Given the description of an element on the screen output the (x, y) to click on. 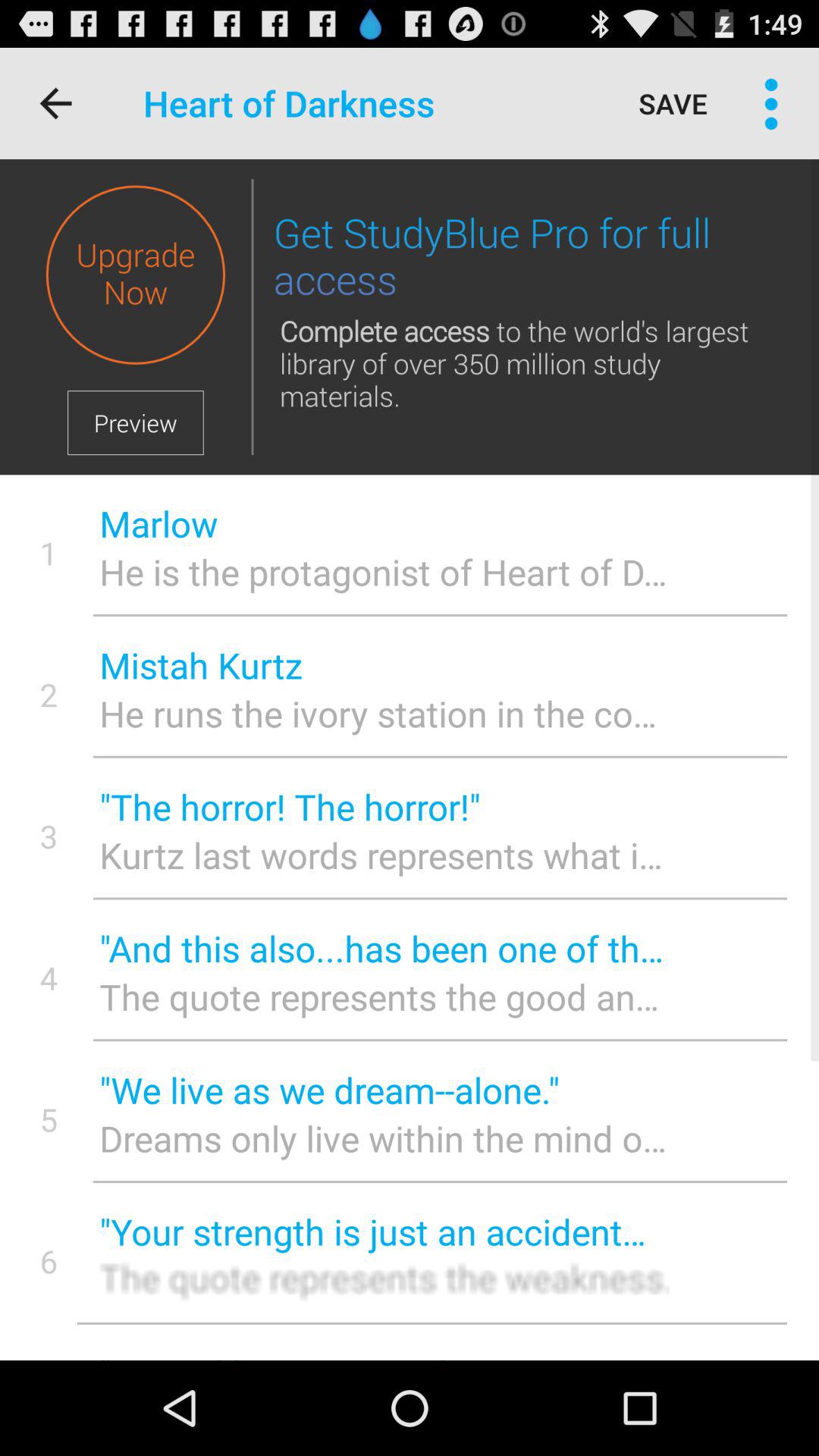
click icon below save icon (526, 257)
